Given the description of an element on the screen output the (x, y) to click on. 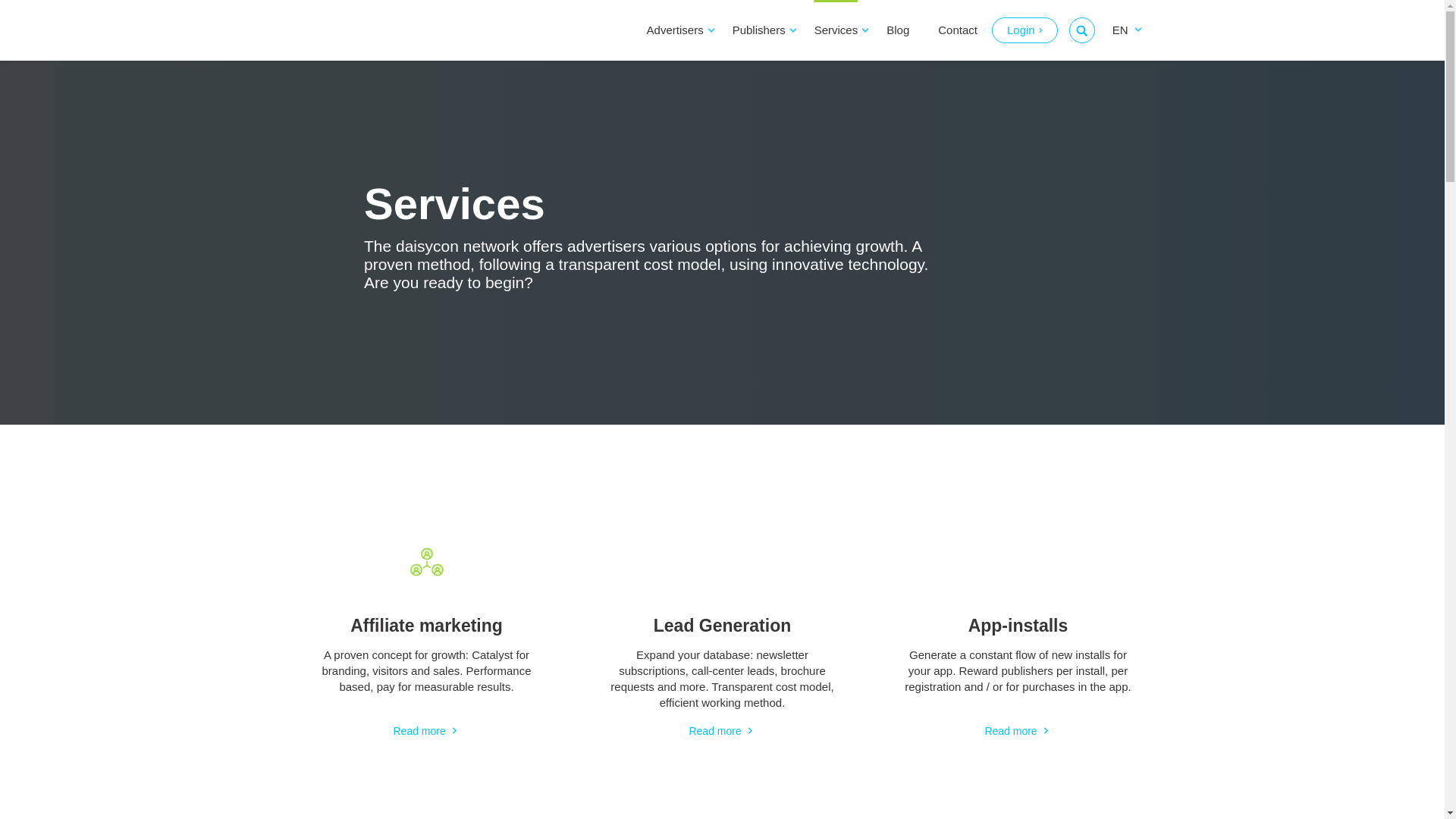
Read more (1017, 730)
Blog (897, 30)
Services (835, 30)
Contact (957, 30)
Search for (1081, 30)
Read more (426, 730)
Daisycon (373, 30)
Advertisers (674, 30)
EN (1121, 29)
Publishers (758, 30)
